Given the description of an element on the screen output the (x, y) to click on. 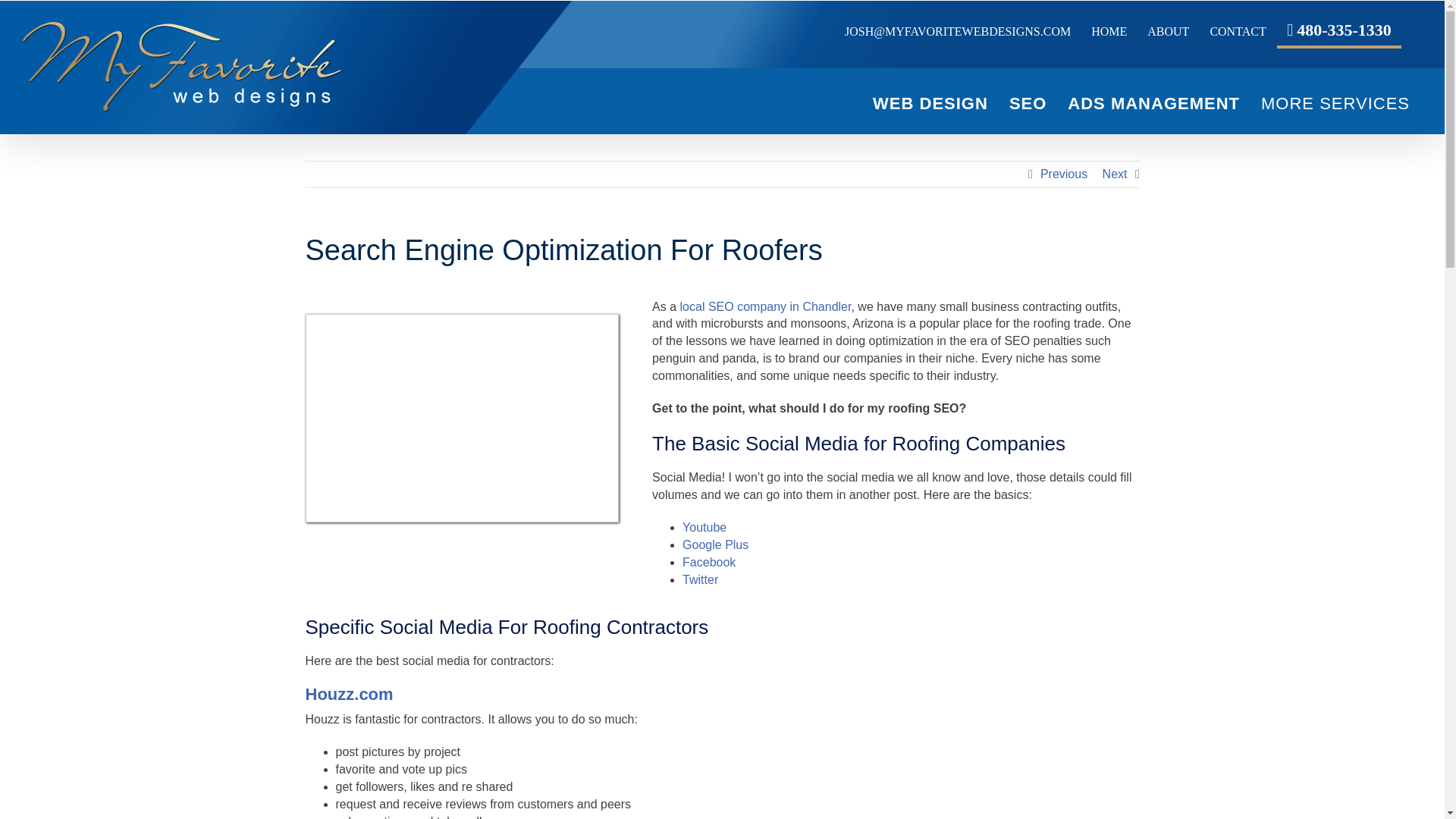
SEO (1027, 103)
local SEO company in Chandler (765, 306)
chandler SEO company (765, 306)
Search Engine Optimization For Roofers (721, 258)
Next (1114, 174)
Roofing contractors can get profiles on Houzz.com (348, 693)
feed it all to a twitter (699, 579)
